Given the description of an element on the screen output the (x, y) to click on. 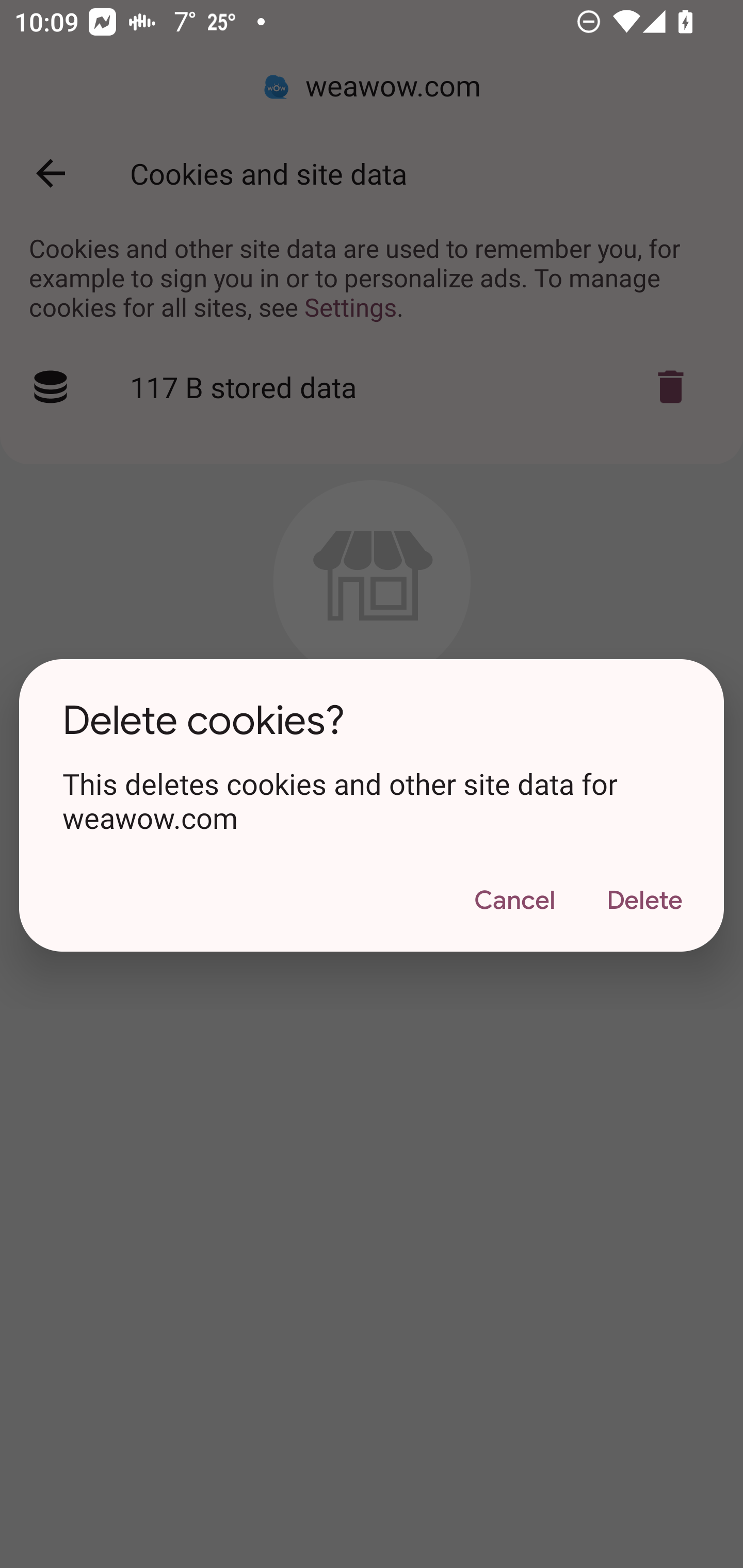
Cancel (514, 900)
Delete (644, 900)
